Given the description of an element on the screen output the (x, y) to click on. 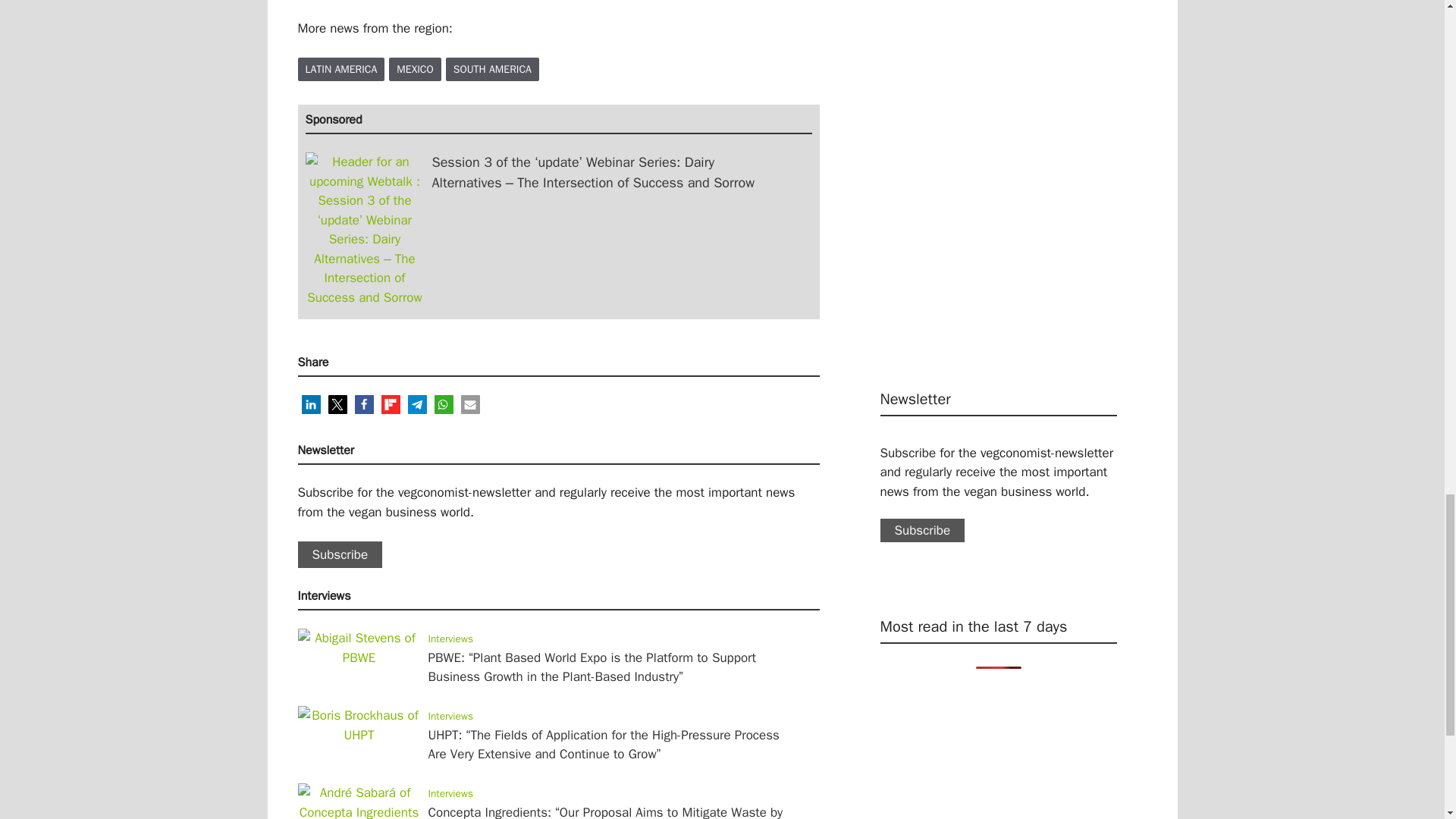
Share on Facebook (364, 404)
South America (491, 69)
Share on Telegram (416, 404)
Mexico (414, 69)
Latin America (340, 69)
Share on Flipboard (389, 404)
Share on X (336, 404)
Share on Whatsapp (442, 404)
Share on LinkedIn (310, 404)
